Given the description of an element on the screen output the (x, y) to click on. 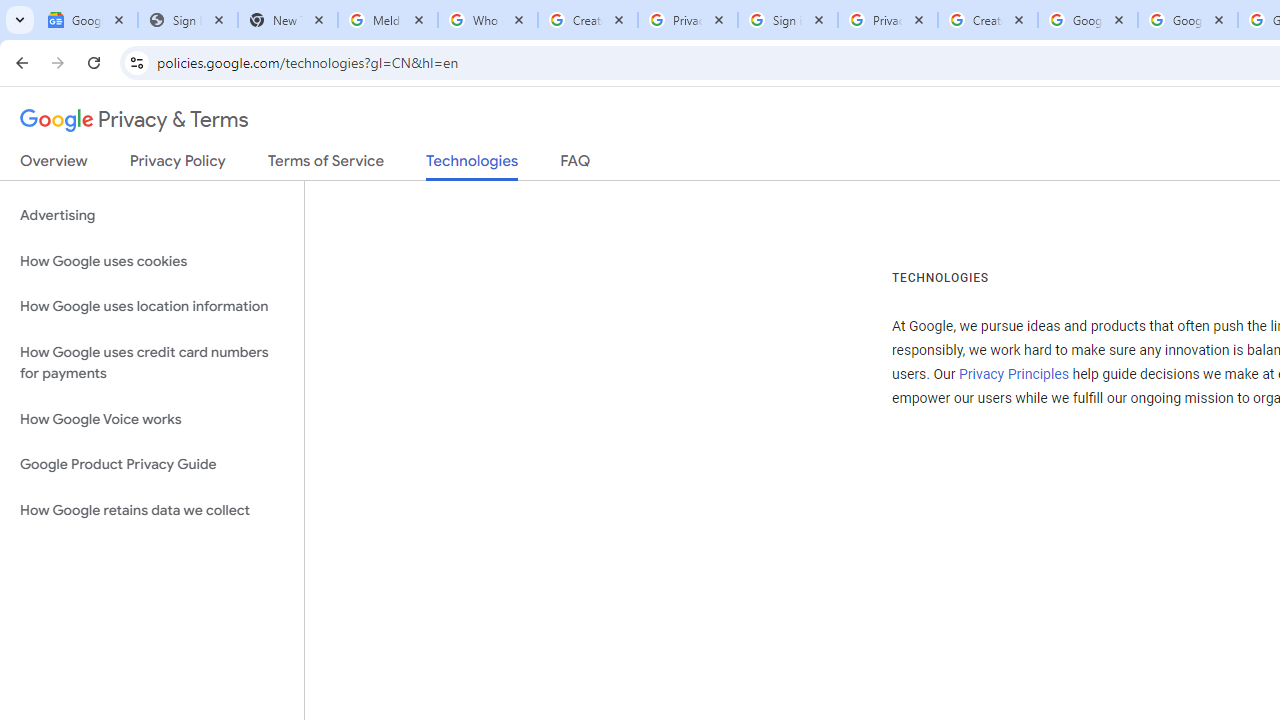
New Tab (287, 20)
How Google uses credit card numbers for payments (152, 362)
Google Product Privacy Guide (152, 465)
Create your Google Account (587, 20)
Advertising (152, 215)
Who is my administrator? - Google Account Help (487, 20)
